Given the description of an element on the screen output the (x, y) to click on. 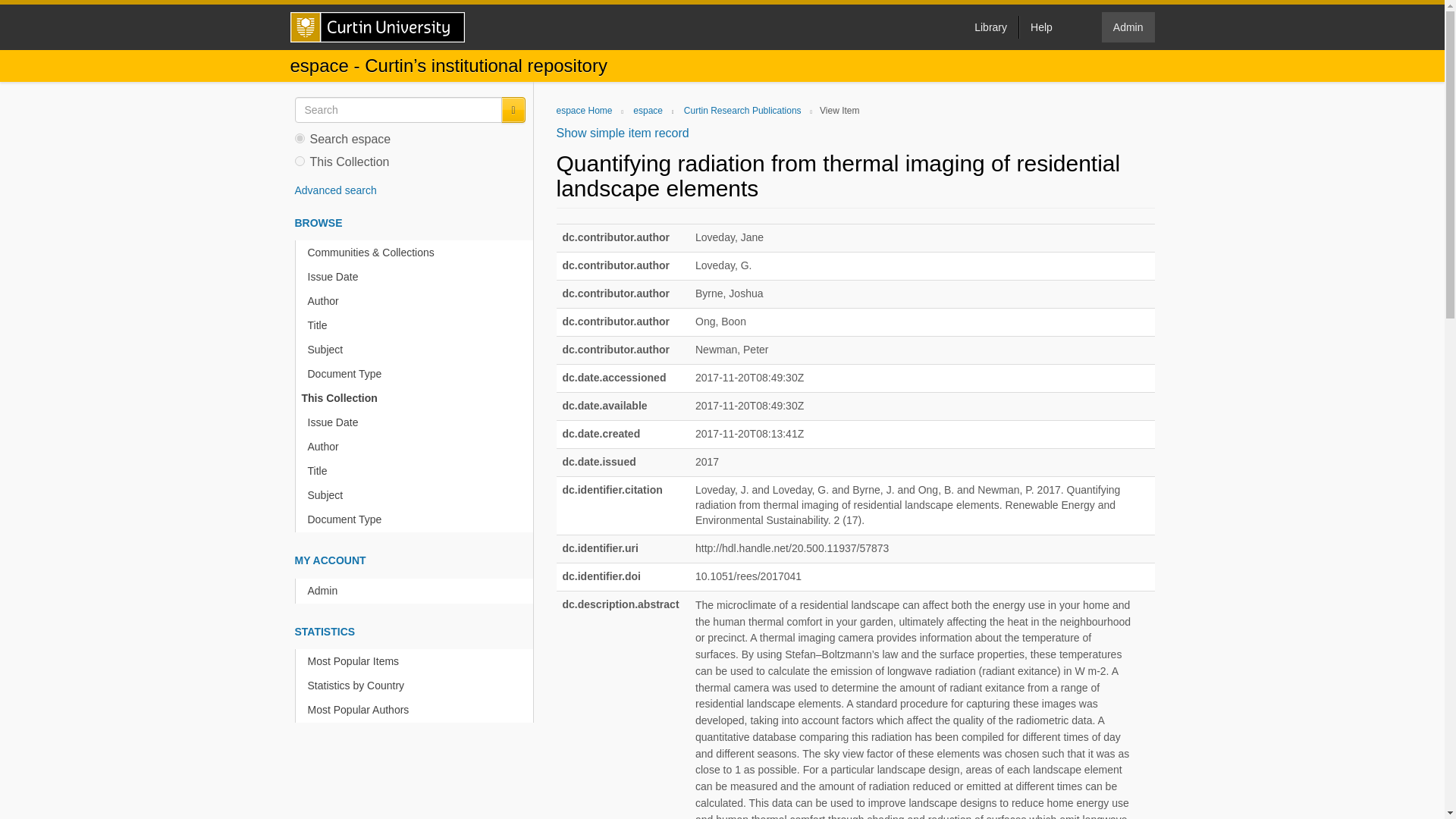
Author (416, 446)
Document Type (416, 519)
Subject (416, 495)
Title (416, 471)
Issue Date (416, 276)
Advanced search (334, 190)
espace (647, 110)
Library (989, 26)
Issue Date (416, 422)
This Collection (413, 398)
